Given the description of an element on the screen output the (x, y) to click on. 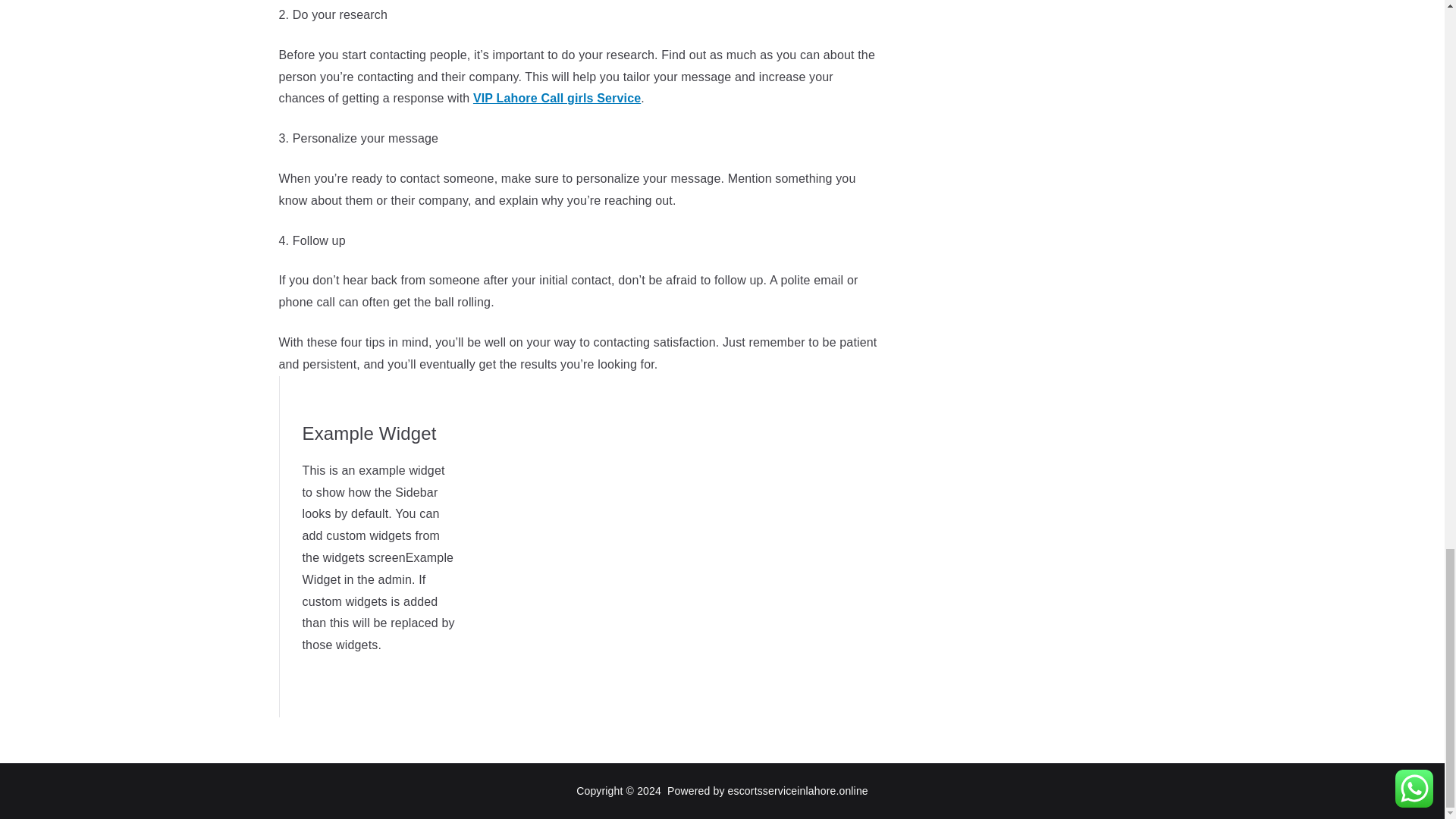
VIP Lahore Call girls Service (556, 97)
